Given the description of an element on the screen output the (x, y) to click on. 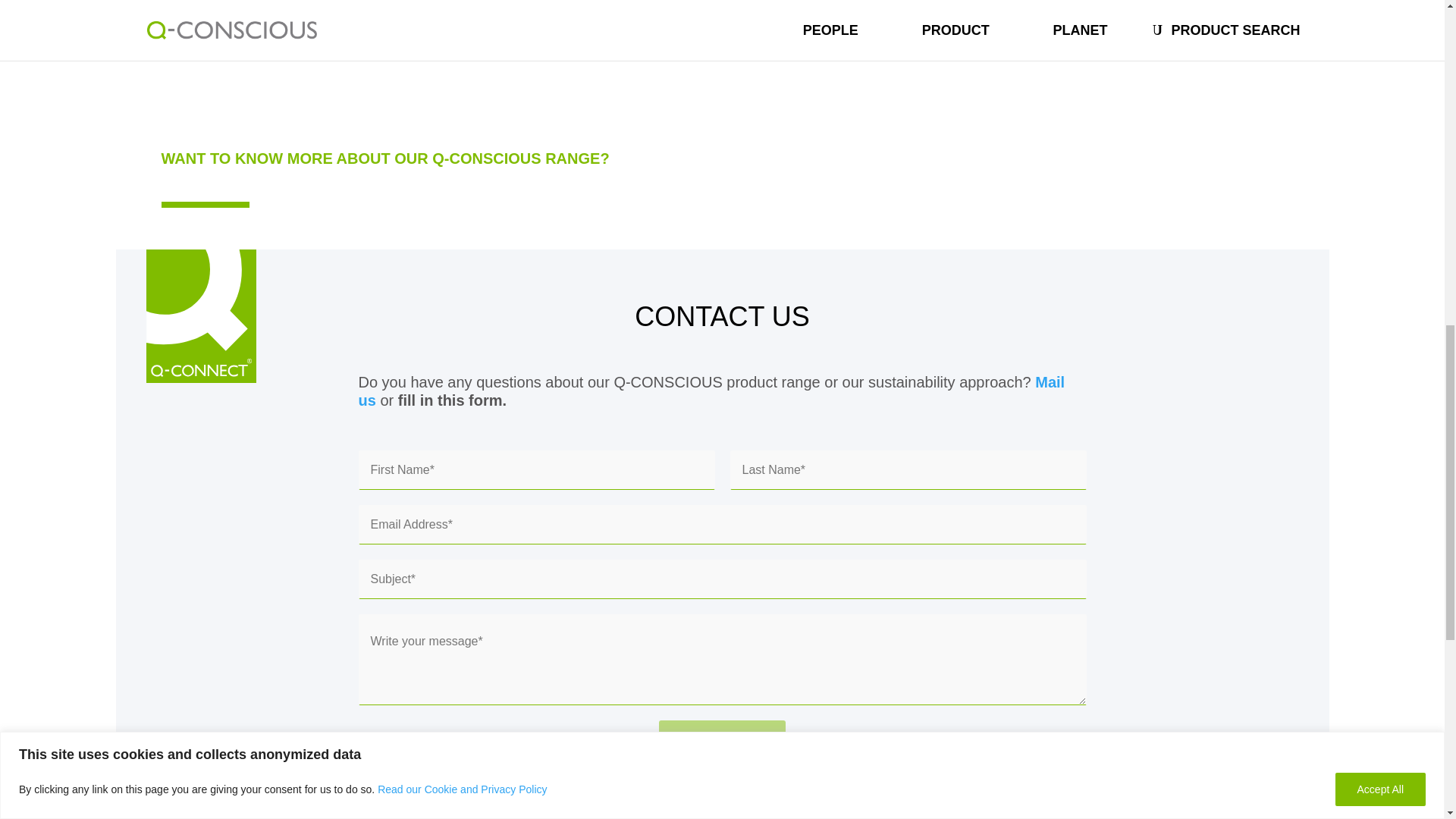
Mail us (711, 390)
Submit (722, 740)
